Given the description of an element on the screen output the (x, y) to click on. 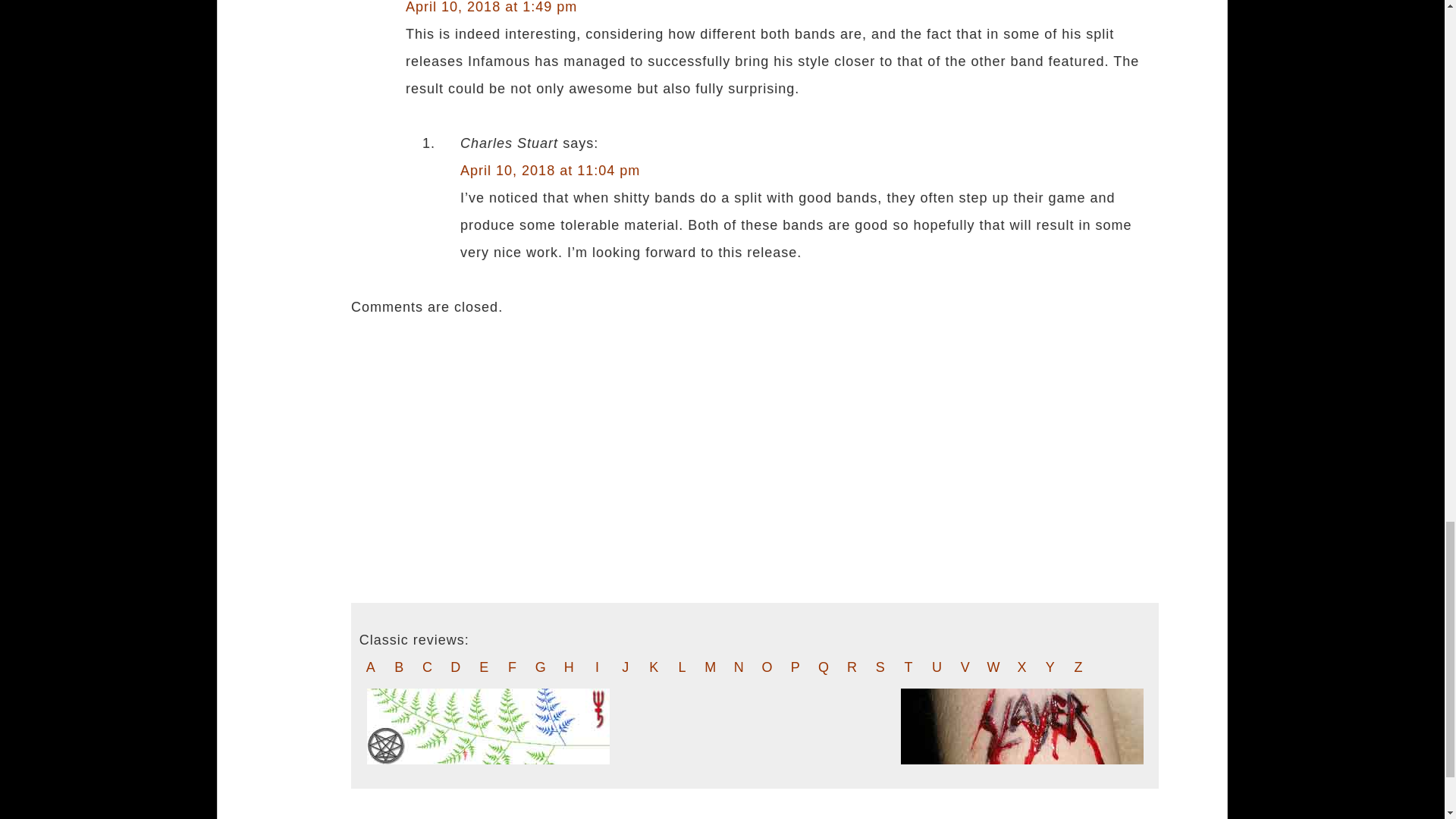
April 10, 2018 at 11:04 pm (550, 170)
April 10, 2018 at 1:49 pm (491, 7)
